Given the description of an element on the screen output the (x, y) to click on. 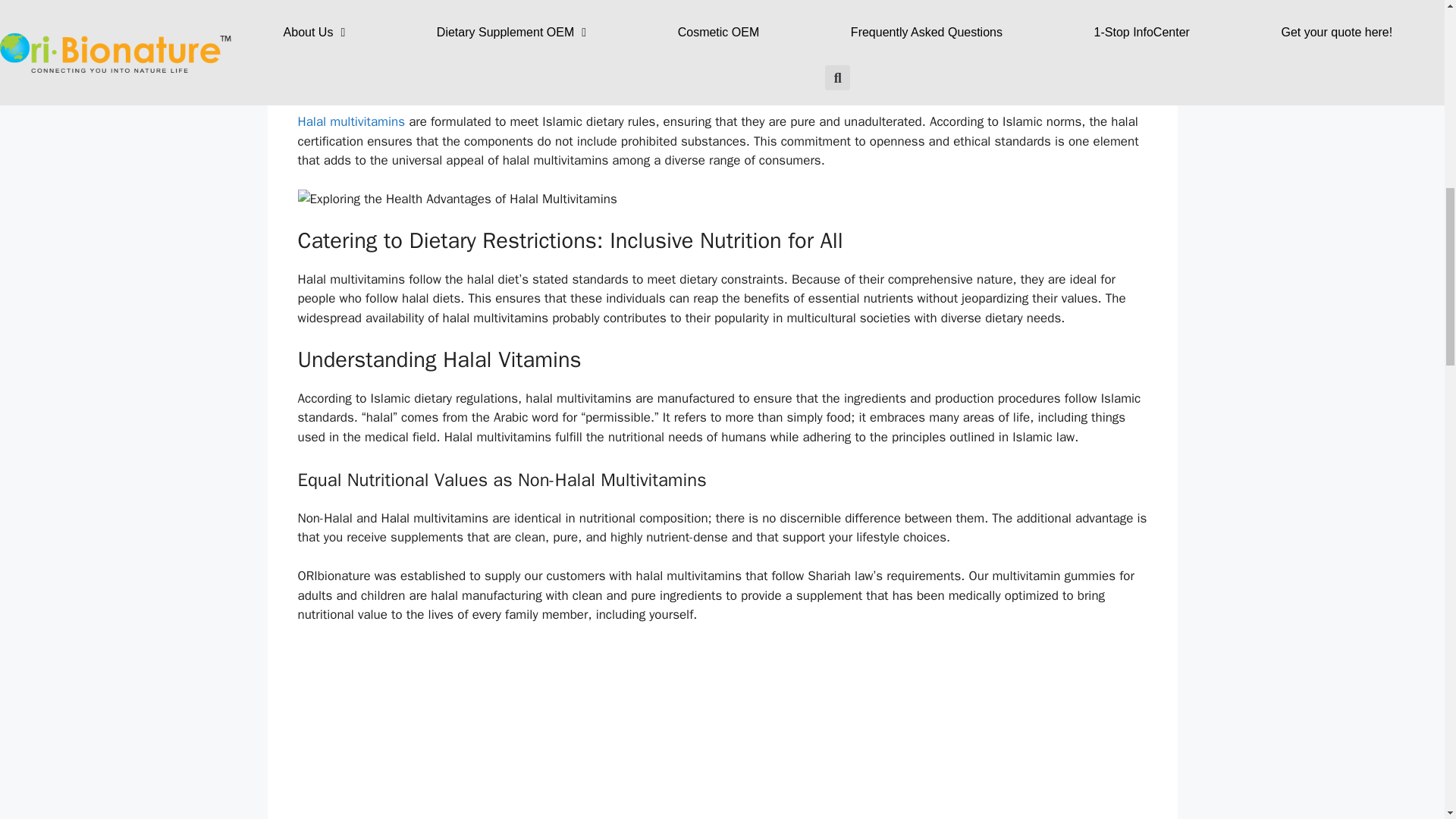
Scroll back to top (1406, 720)
